Given the description of an element on the screen output the (x, y) to click on. 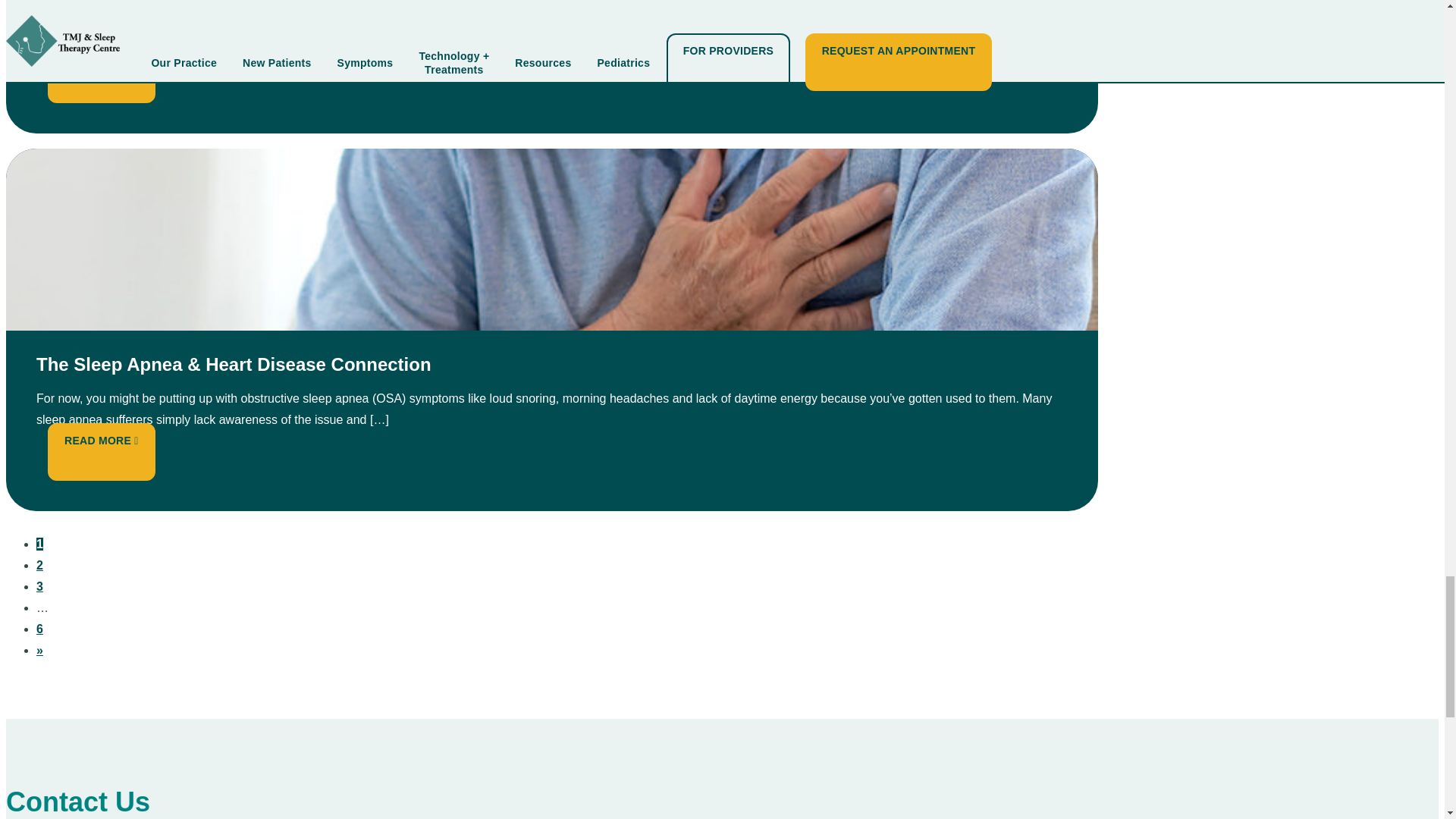
READ MORE (101, 440)
READ MORE (101, 62)
